Given the description of an element on the screen output the (x, y) to click on. 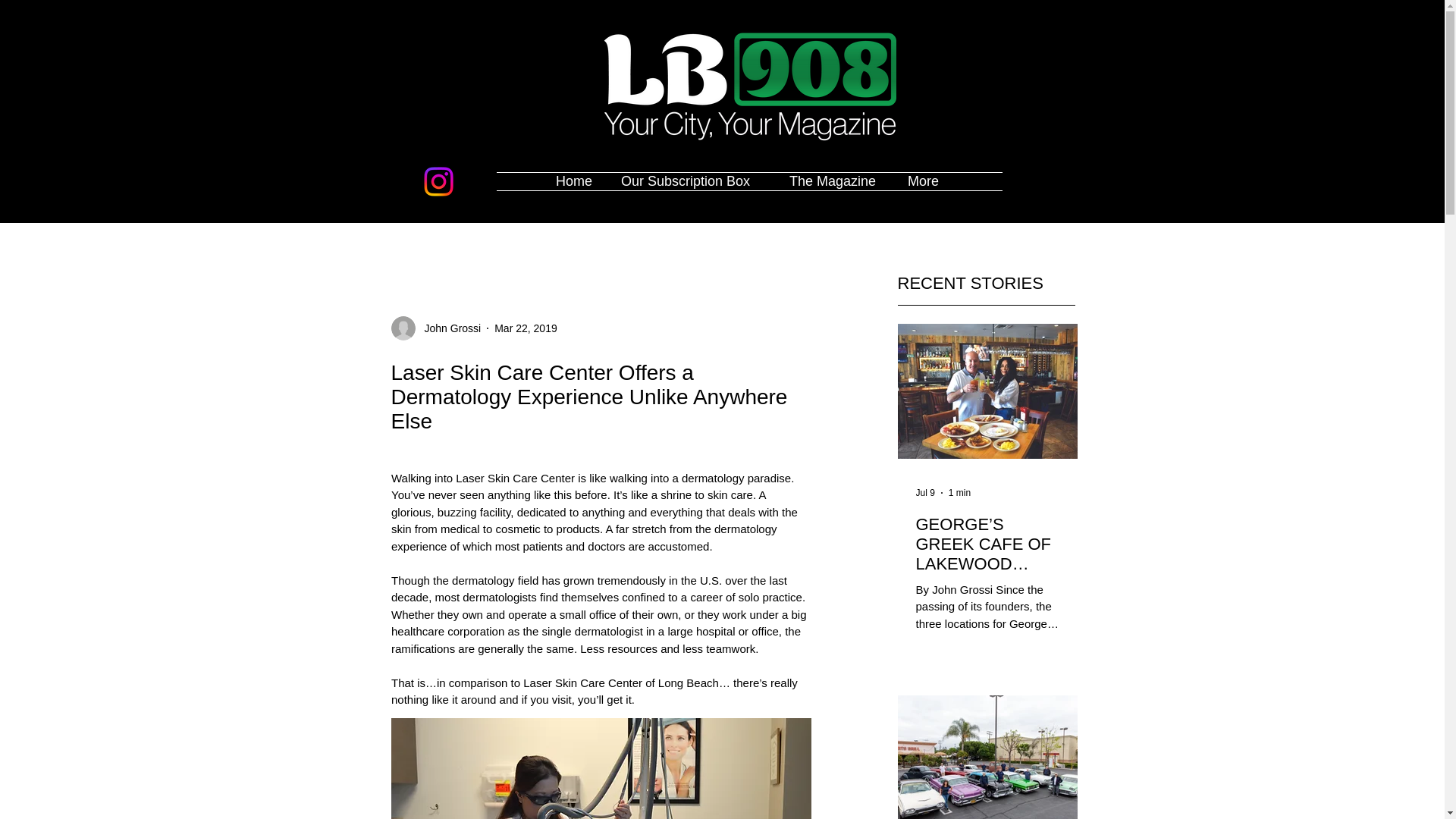
Jul 9 (924, 492)
John Grossi (436, 328)
John Grossi (447, 327)
The Magazine (836, 181)
Home (577, 181)
Mar 22, 2019 (526, 327)
1 min (960, 492)
Our Subscription Box (693, 181)
